Given the description of an element on the screen output the (x, y) to click on. 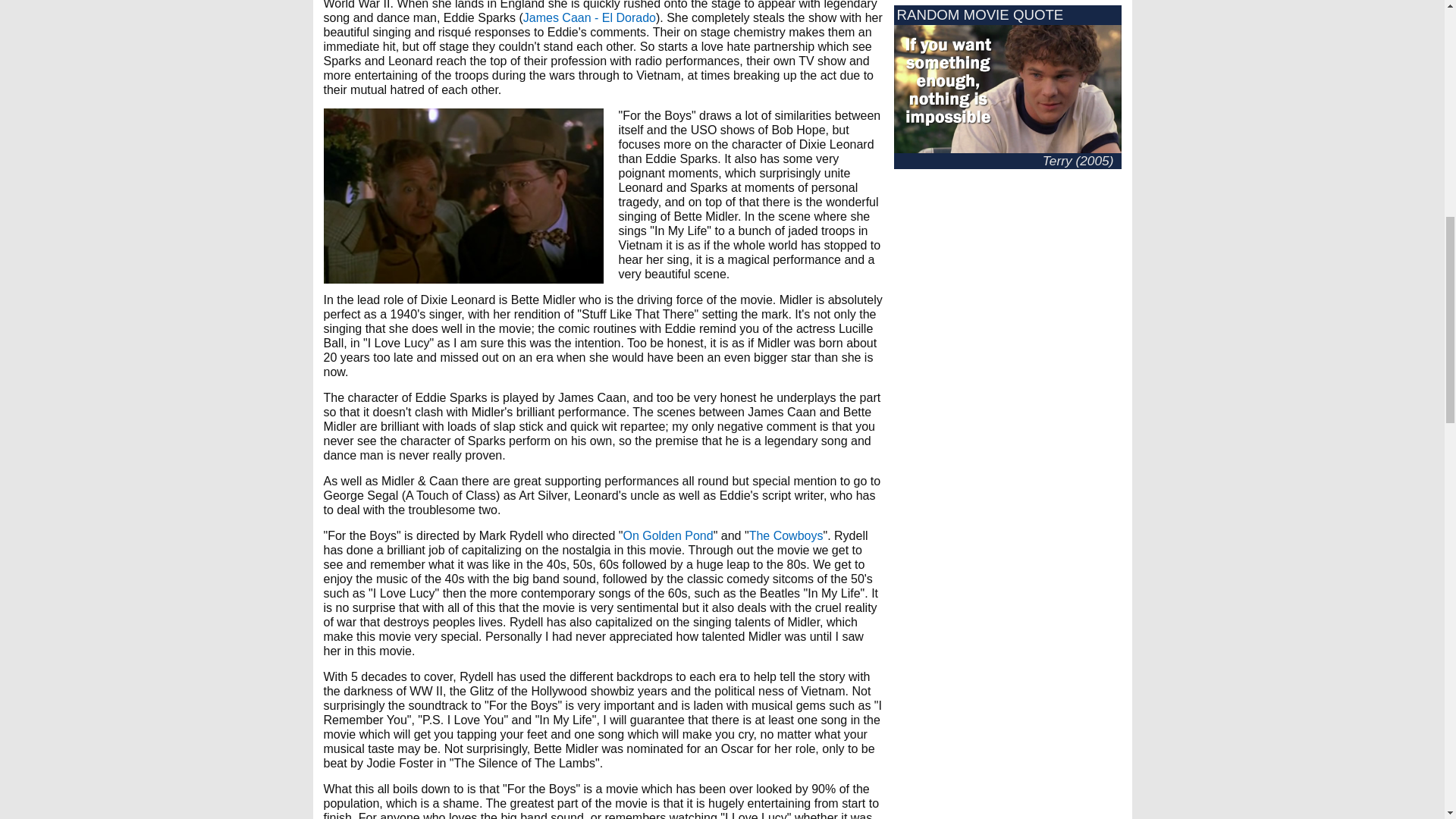
James Caan - El Dorado (589, 17)
On Golden Pond (668, 535)
The Cowboys (786, 535)
